Given the description of an element on the screen output the (x, y) to click on. 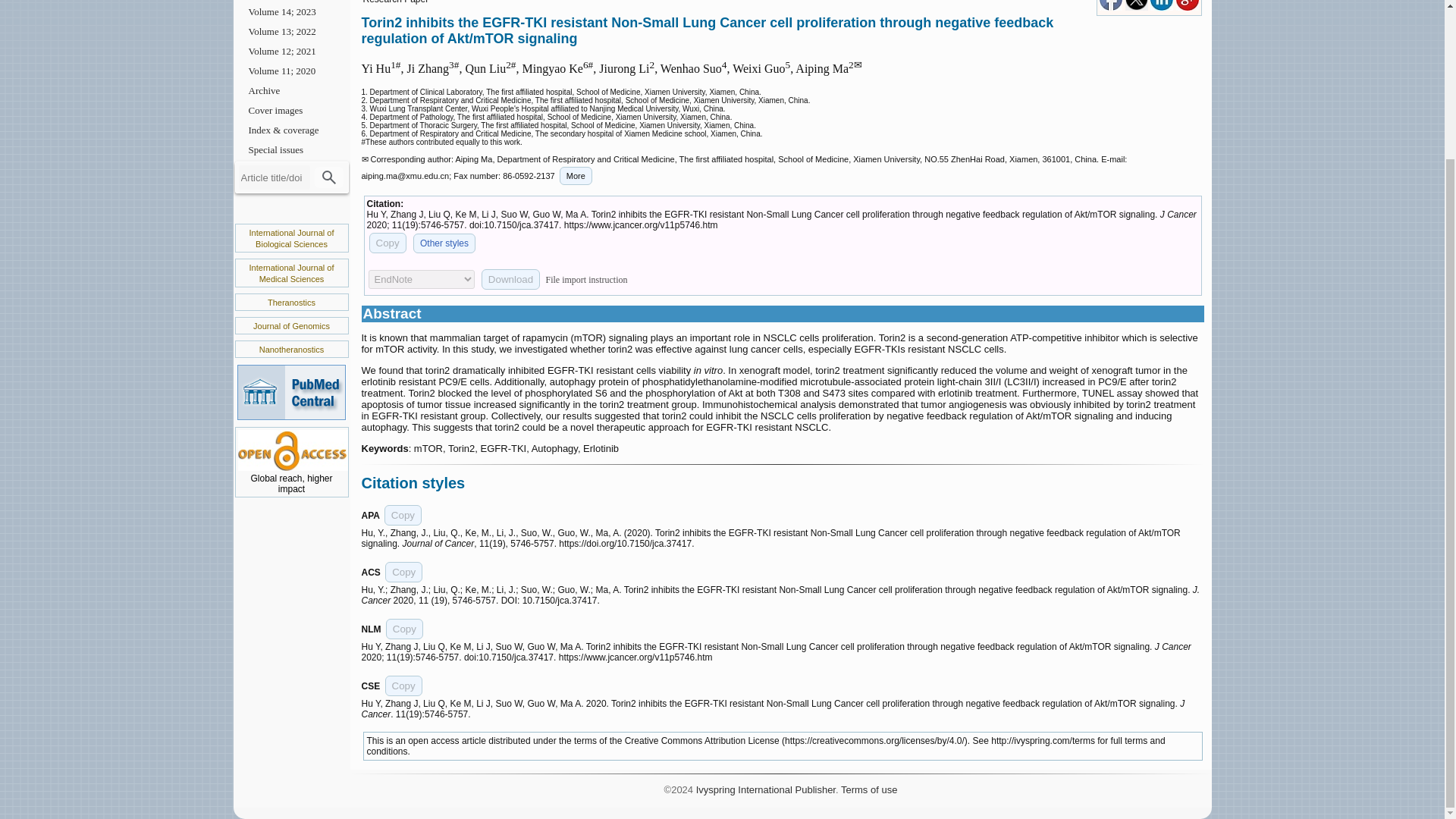
Share on facebook (1110, 7)
Volume 12; 2021 (291, 51)
Download (510, 279)
Copy (403, 515)
Copy (403, 685)
Copy to clipboard (403, 515)
Volume 14; 2023 (291, 12)
Copy to clipboard (387, 242)
Journal of Genomics (291, 325)
Copy to clipboard (404, 629)
